Given the description of an element on the screen output the (x, y) to click on. 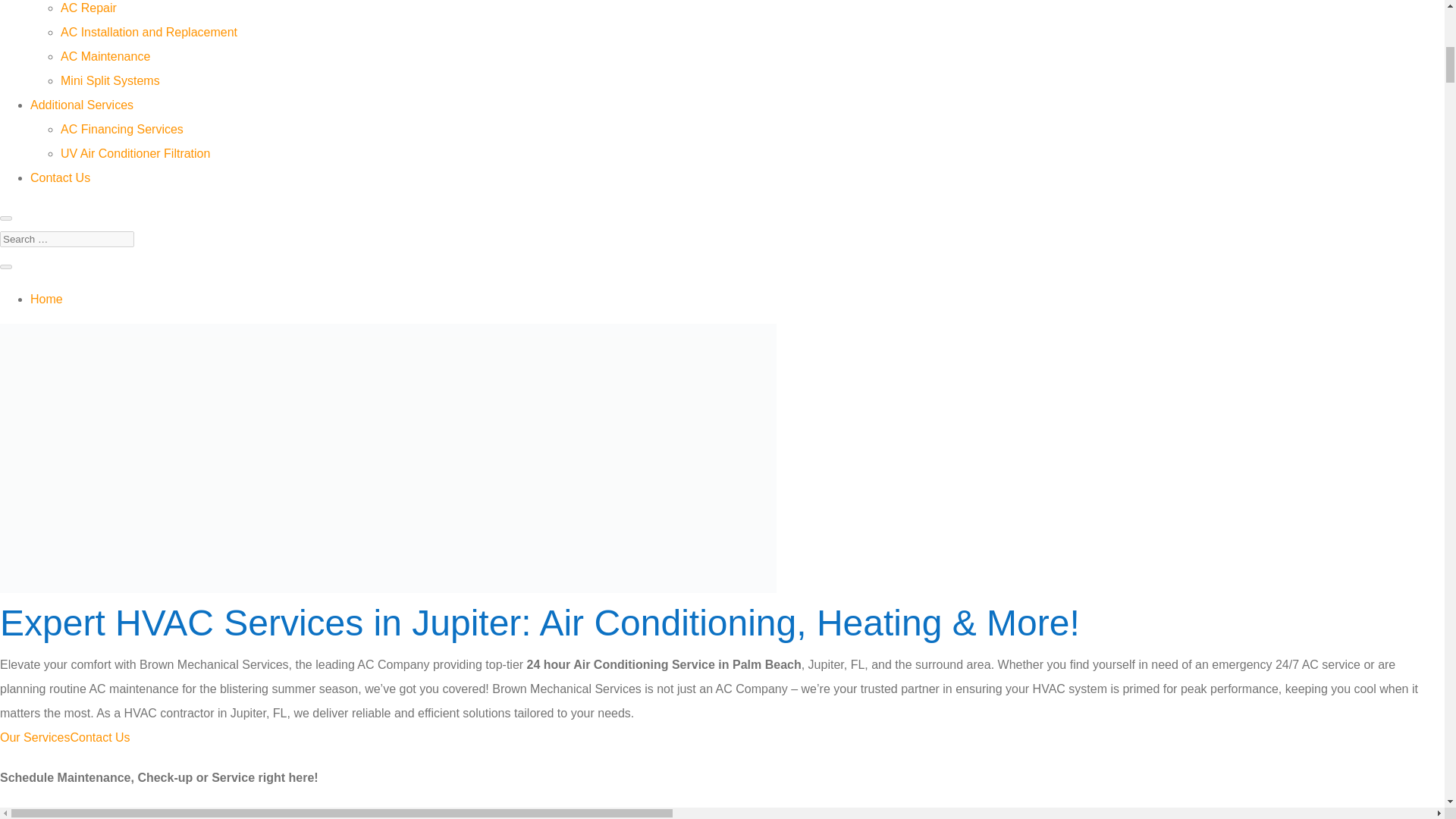
Our Services (34, 737)
AC Repair (88, 7)
AC Financing Services (122, 128)
Mini Split Systems (110, 80)
Contact Us (99, 737)
AC Maintenance (105, 56)
UV Air Conditioner Filtration (135, 153)
Additional Services (81, 104)
Search for: (66, 238)
AC Installation and Replacement (149, 31)
Contact Us (60, 177)
Home (46, 298)
